Given the description of an element on the screen output the (x, y) to click on. 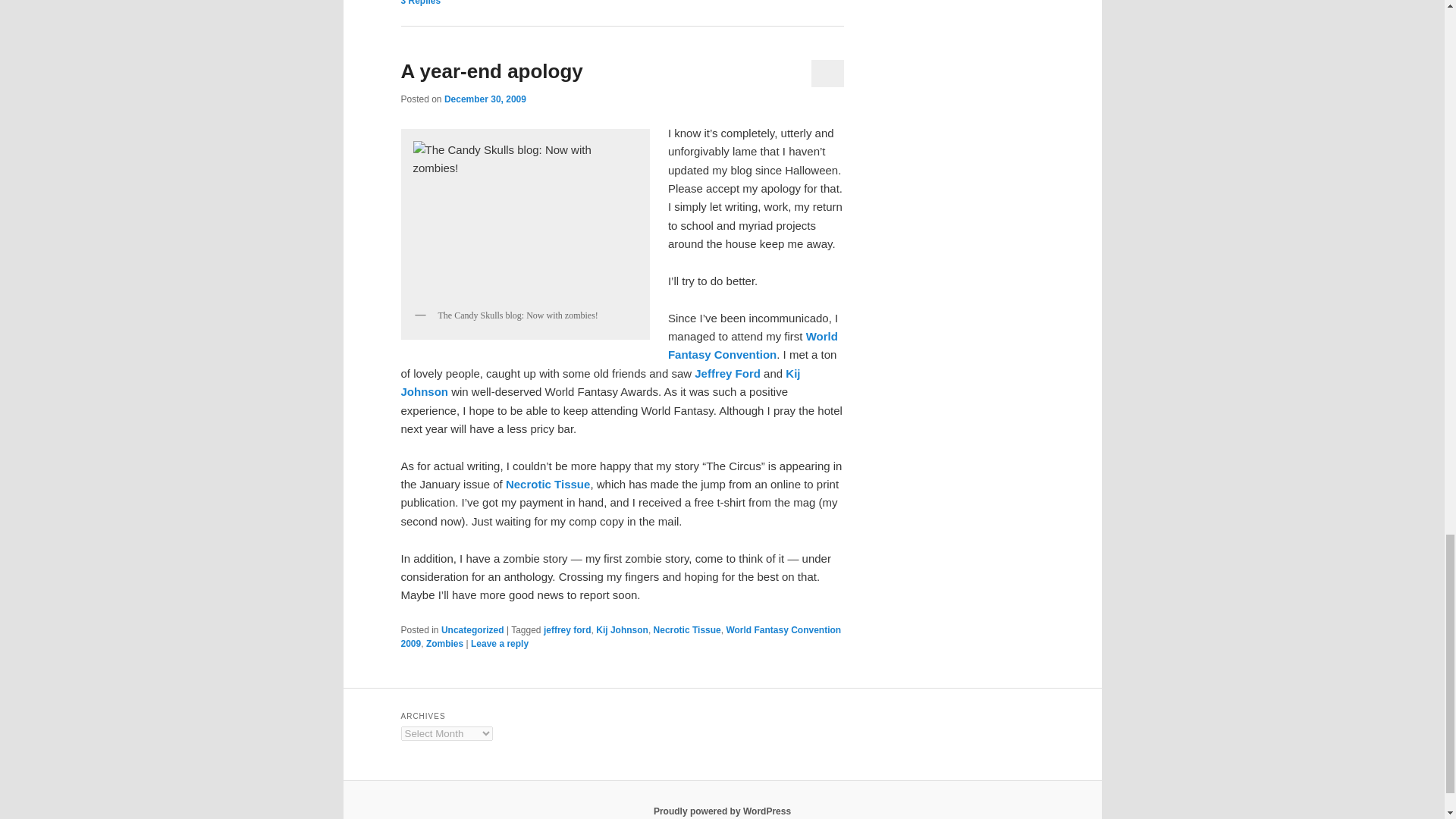
zomb1 (525, 218)
Semantic Personal Publishing Platform (721, 810)
1:16 pm (484, 99)
